Given the description of an element on the screen output the (x, y) to click on. 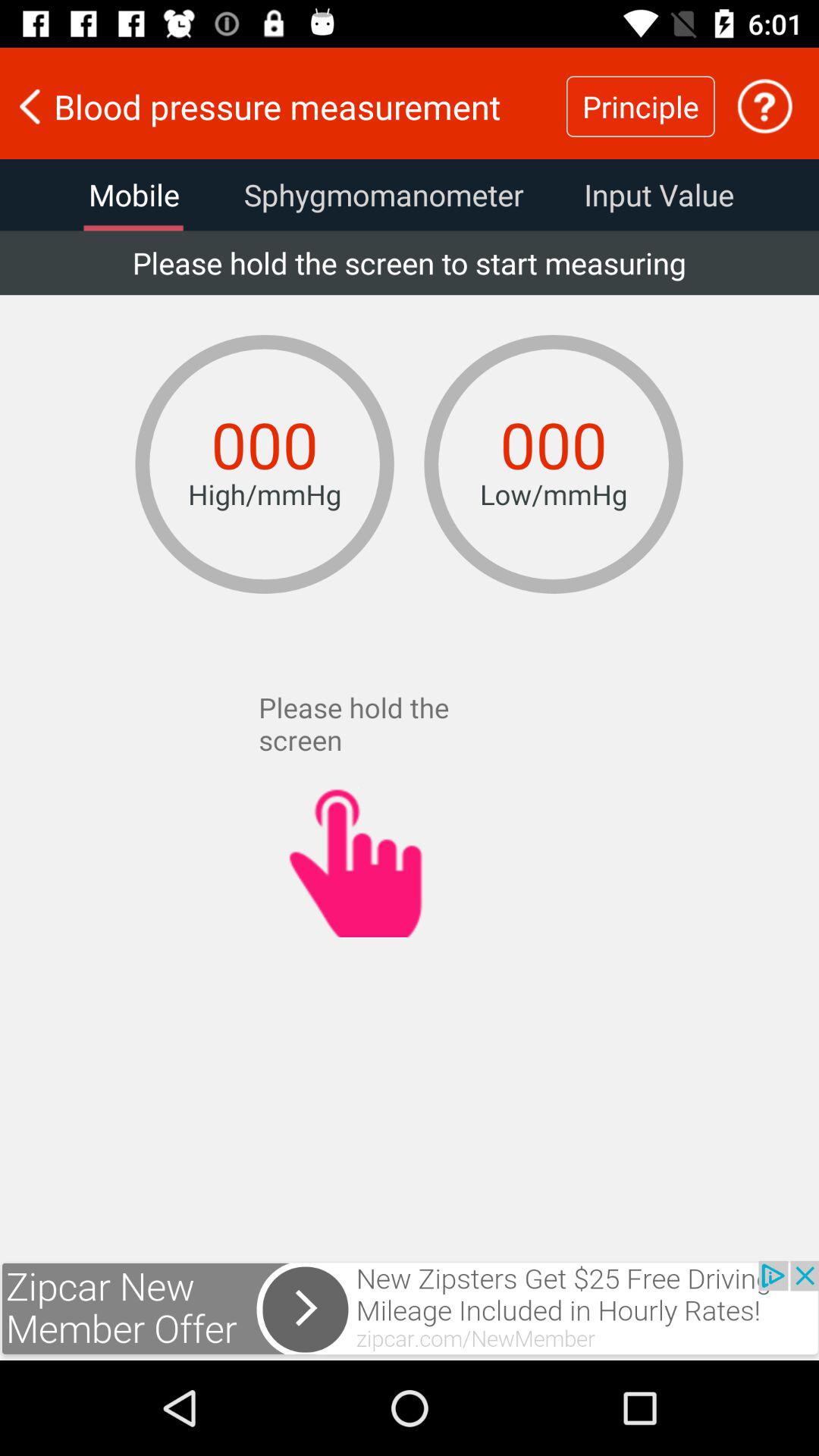
go to next (409, 1310)
